Given the description of an element on the screen output the (x, y) to click on. 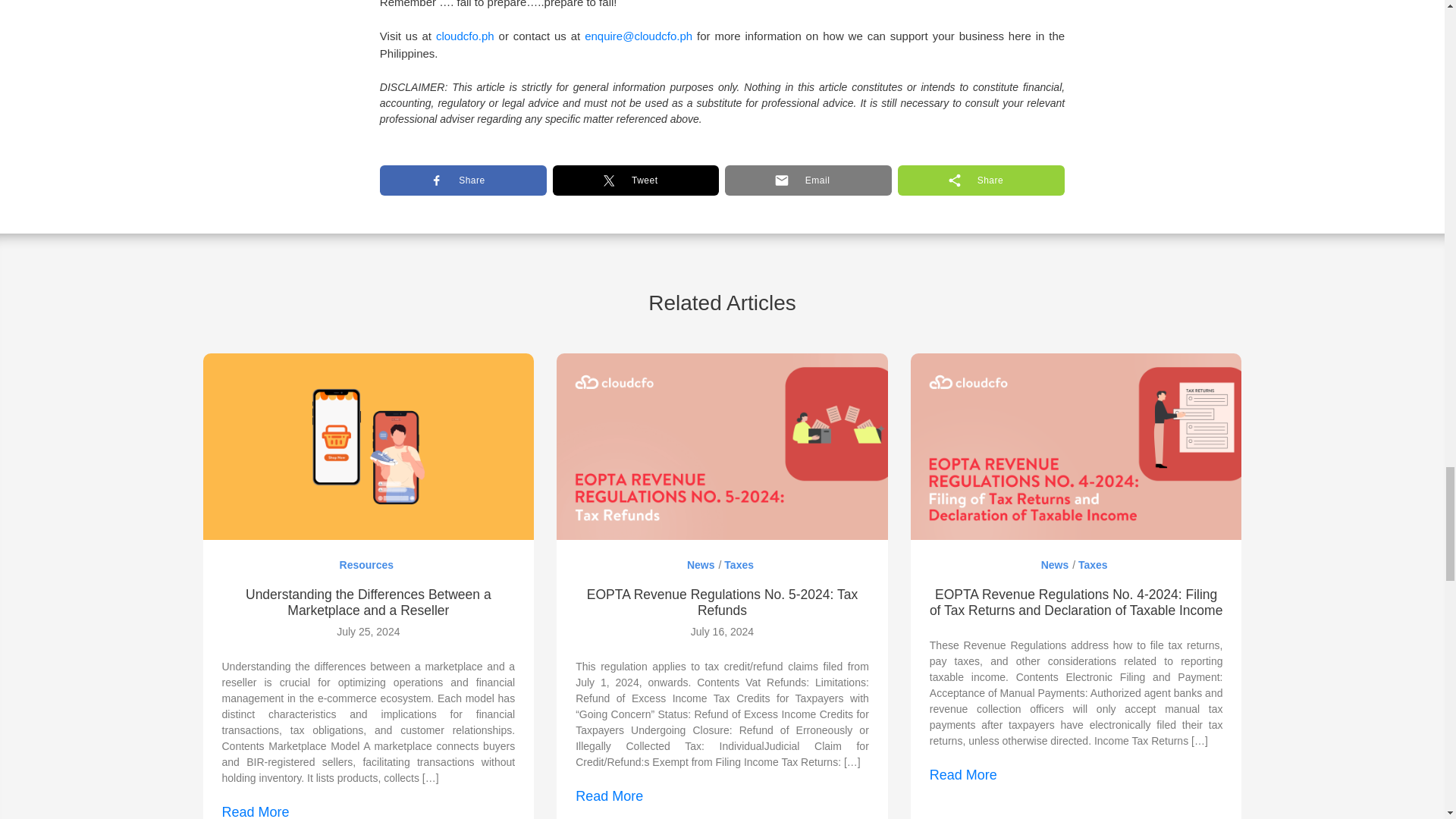
EOPTA Revenue Regulations No. 5-2024: Tax Refunds (722, 445)
